Given the description of an element on the screen output the (x, y) to click on. 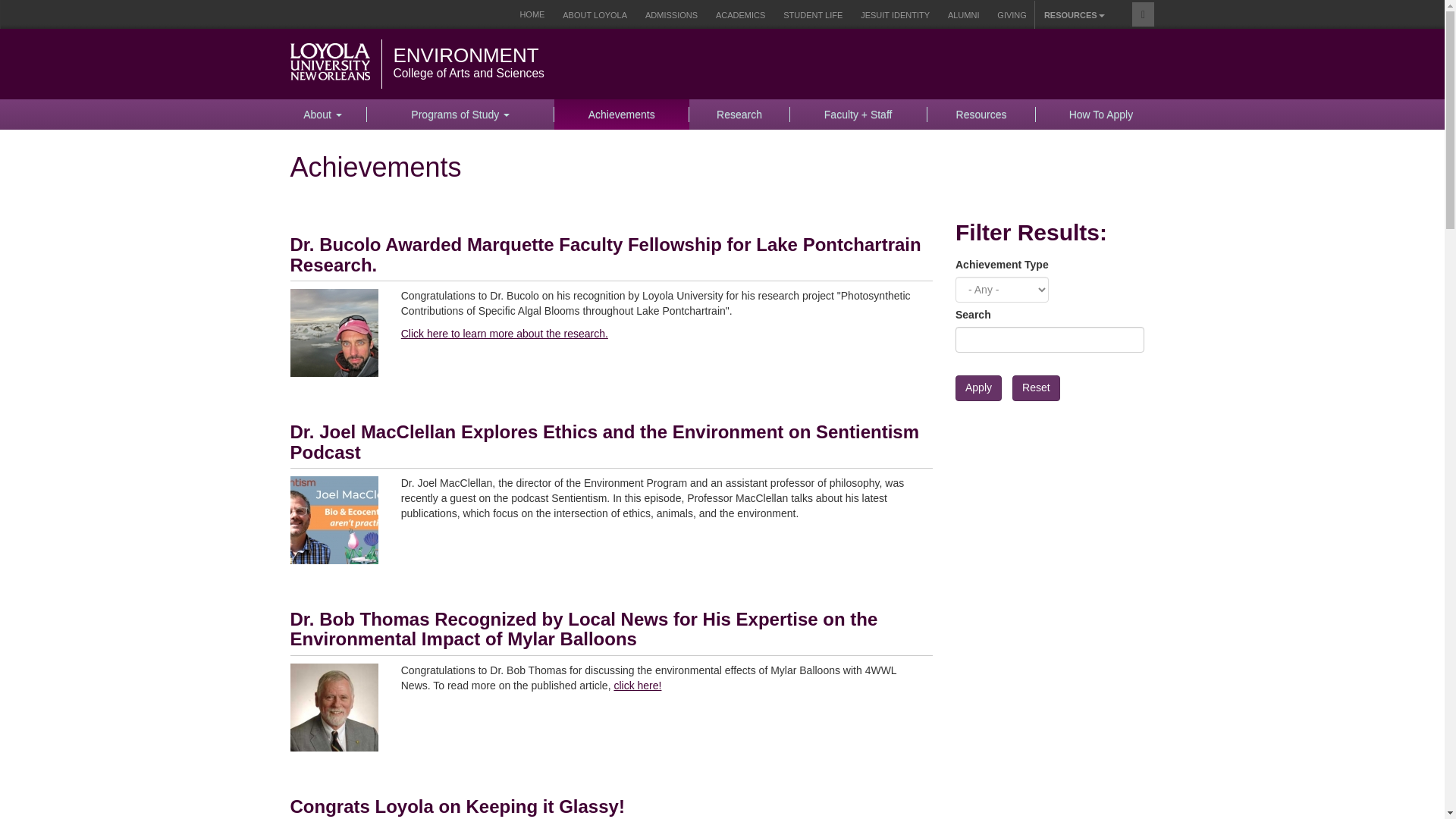
STUDENT LIFE (813, 15)
ACADEMICS (740, 15)
Apply (978, 388)
ALUMNI (963, 15)
ENVIRONMENT (465, 55)
About Environment (323, 114)
Programs of Study (460, 114)
How To Apply (1100, 114)
Resources (981, 114)
